Given the description of an element on the screen output the (x, y) to click on. 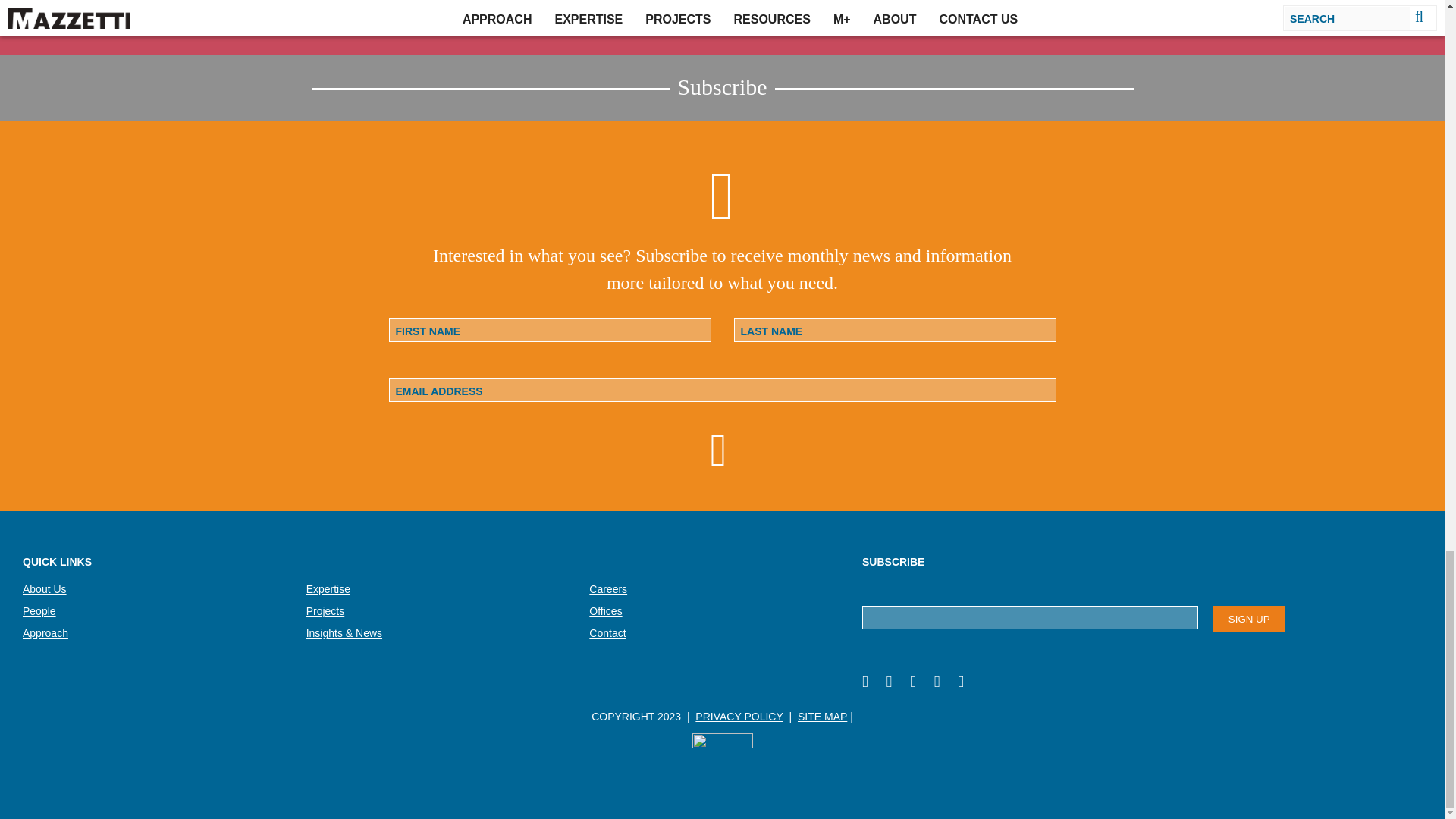
Sign Up (1248, 618)
